Given the description of an element on the screen output the (x, y) to click on. 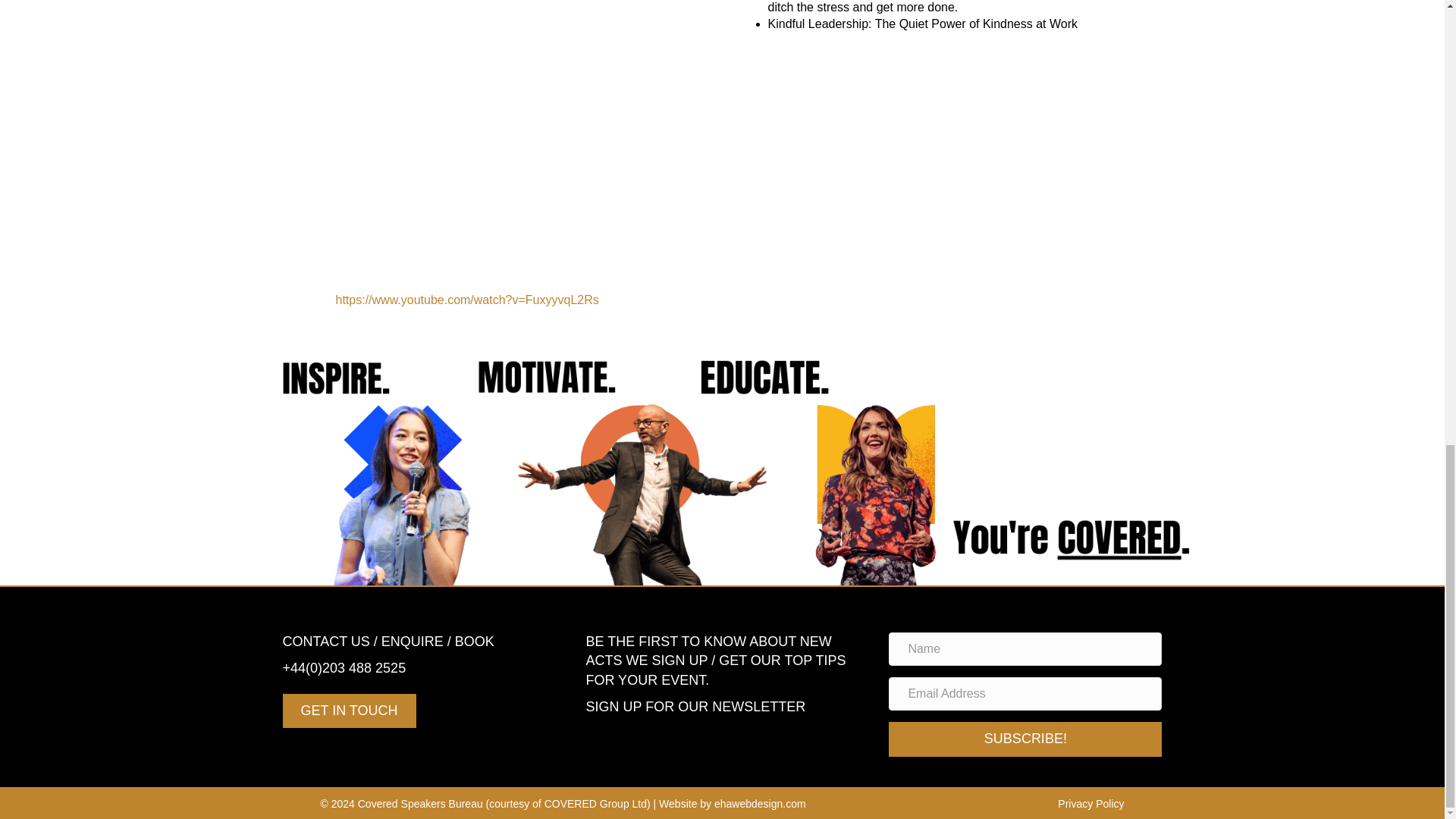
Graham Allcott - Talk for Google Team (922, 144)
Page 1 (418, 668)
